Given the description of an element on the screen output the (x, y) to click on. 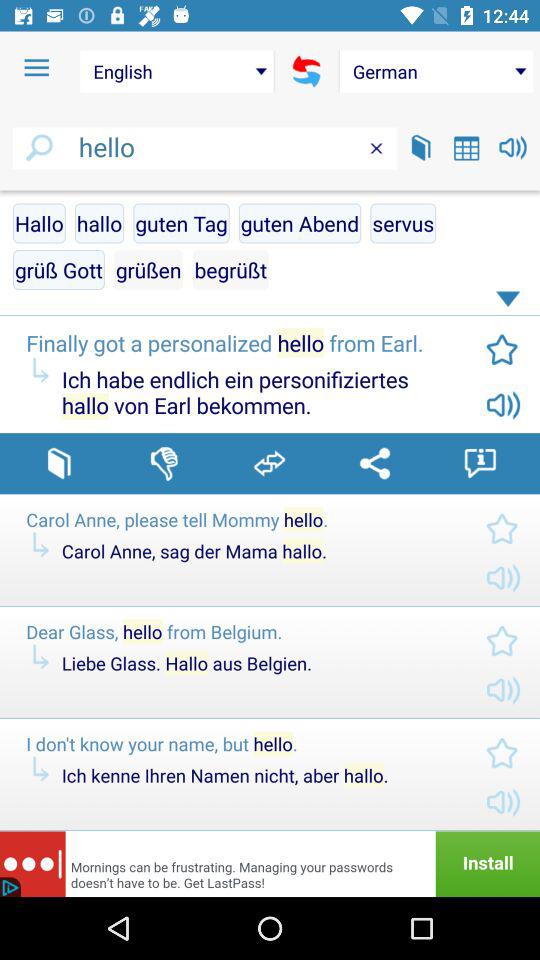
share option (374, 463)
